Given the description of an element on the screen output the (x, y) to click on. 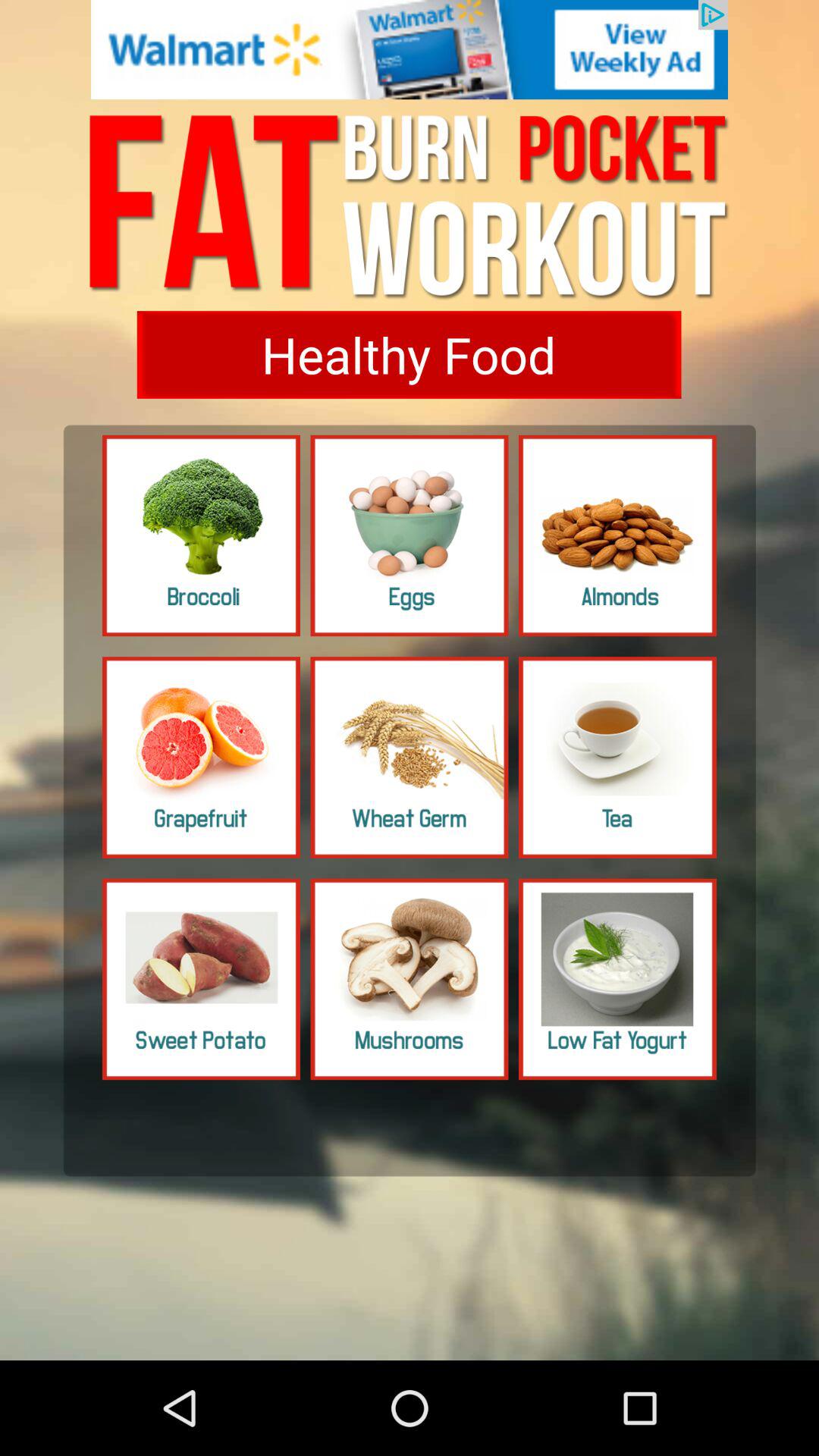
to choose almonds category (617, 535)
